Given the description of an element on the screen output the (x, y) to click on. 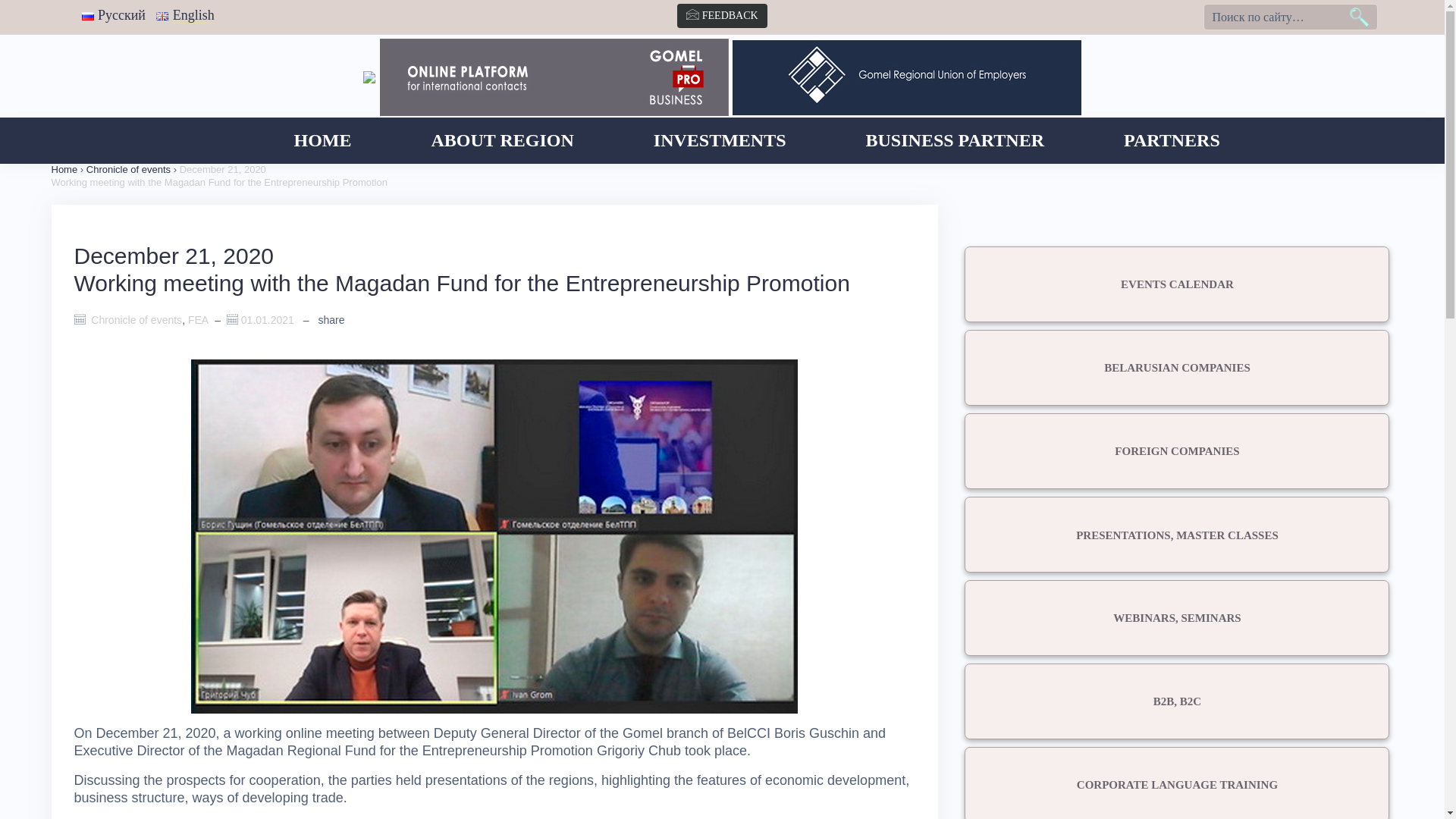
ABOUT REGION Element type: text (502, 140)
FEEDBACK Element type: text (721, 15)
PRESENTATIONS, MASTER CLASSES Element type: text (1176, 534)
PARTNERS Element type: text (1171, 140)
FOREIGN COMPANIES Element type: text (1176, 451)
FEA Element type: text (198, 319)
Chronicle of events Element type: text (128, 169)
BELARUSIAN COMPANIES Element type: text (1176, 367)
EVENTS CALENDAR Element type: text (1176, 284)
B2B, B2C Element type: text (1176, 701)
Chronicle of events Element type: text (136, 319)
WEBINARS, SEMINARS Element type: text (1176, 617)
Skip to content Element type: text (0, 0)
Home Element type: text (64, 169)
English Element type: text (184, 14)
BUSINESS PARTNER Element type: text (955, 140)
English Element type: hover (162, 16)
HOME Element type: text (322, 140)
INVESTMENTS Element type: text (719, 140)
